Given the description of an element on the screen output the (x, y) to click on. 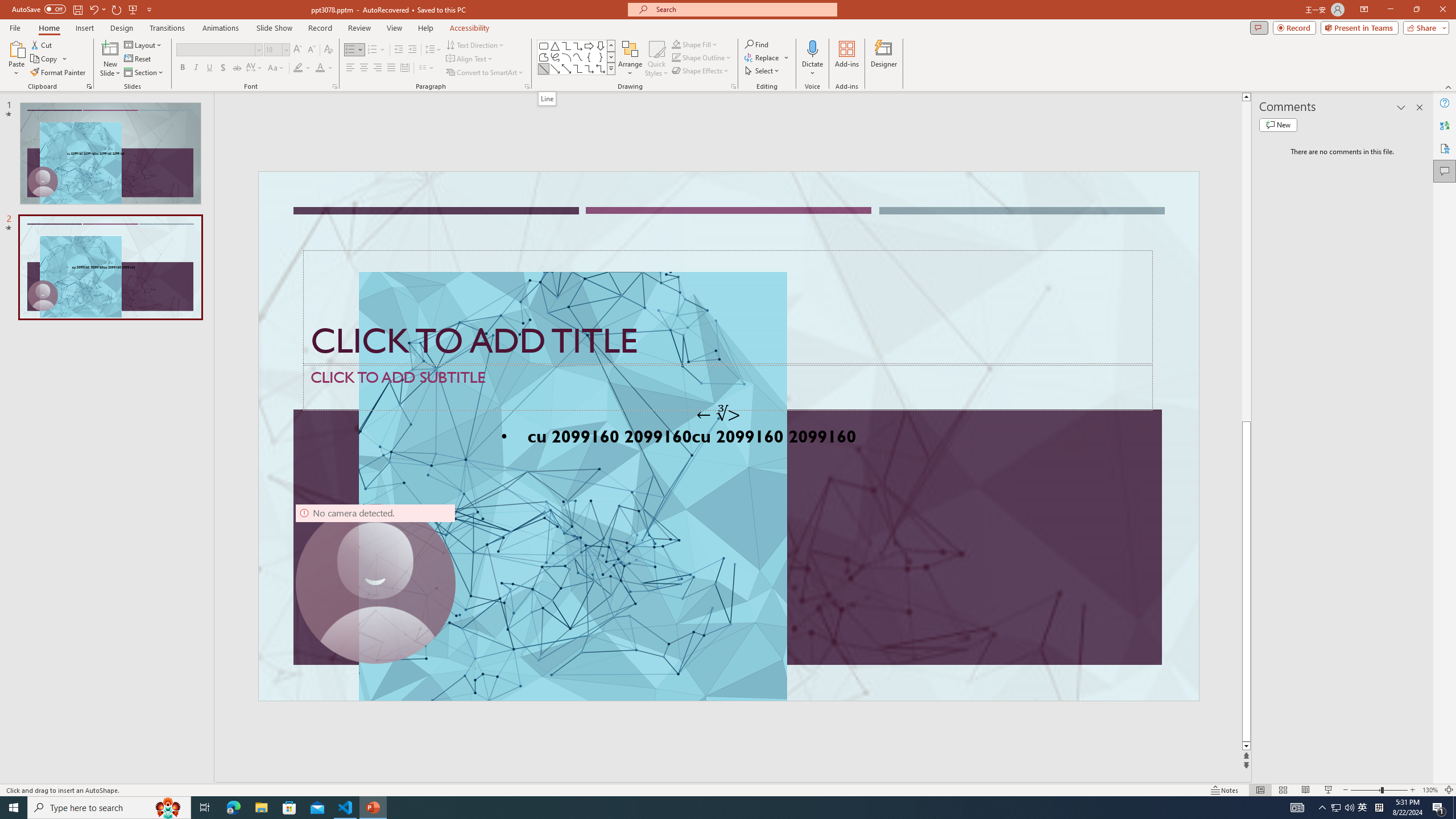
644553698@qq.com (1295, 382)
Accounts - Sign in requested (76, 690)
Terminal actions (1050, 533)
Close Dialog (644, 387)
Explorer actions (222, 183)
Go Back (Alt+LeftArrow) (600, 150)
